Given the description of an element on the screen output the (x, y) to click on. 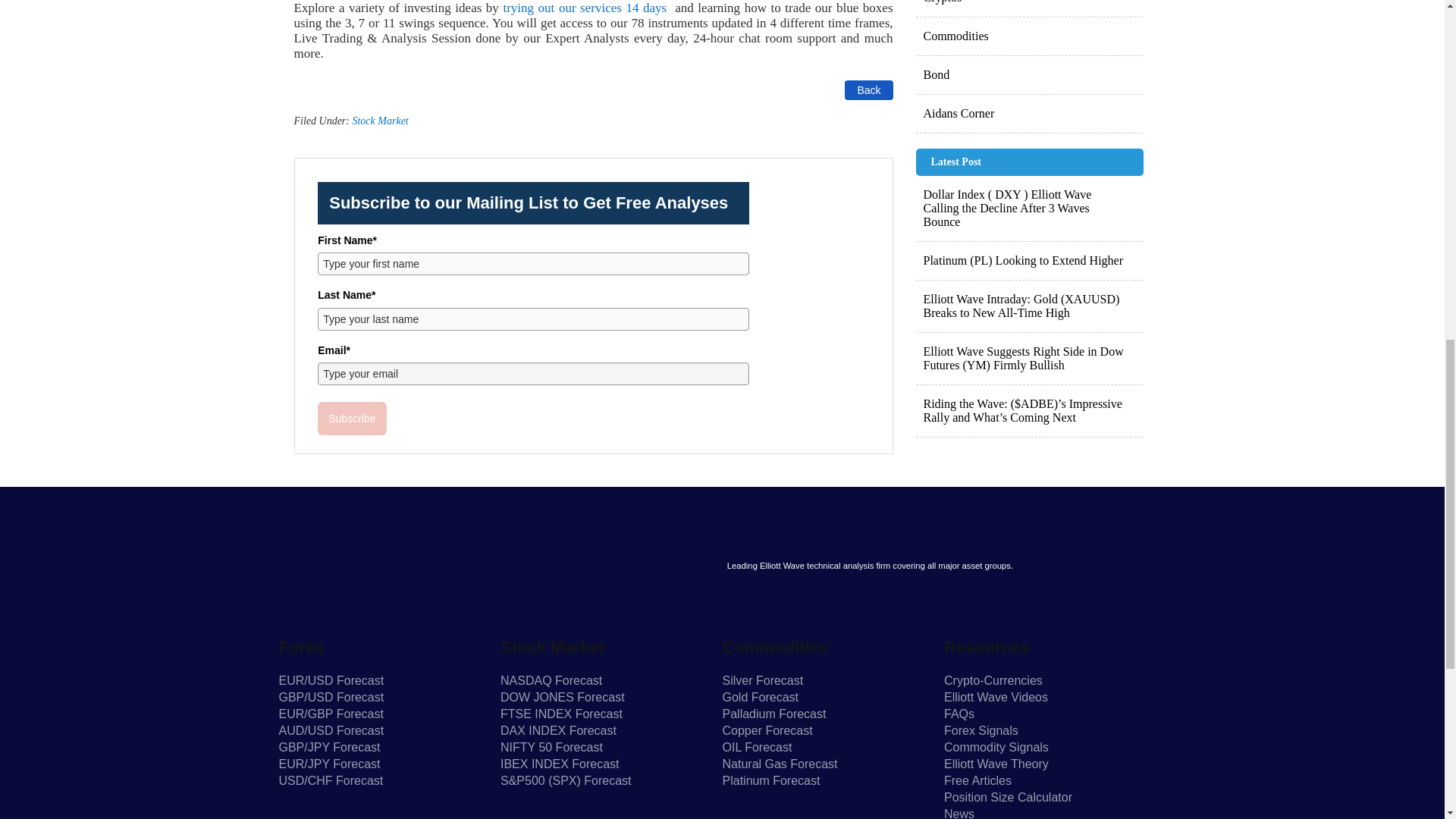
NIFTY 50 Forecast (551, 747)
FTSE INDEX Forecast (561, 713)
Silver Forecast (762, 680)
Stock Market (379, 120)
DOW JONES Forecast (562, 697)
IBEX INDEX Forecast (560, 763)
NASDAQ Forecast (551, 680)
Back (868, 89)
DAX INDEX Forecast (557, 730)
trying out our services 14 days  (585, 7)
